Given the description of an element on the screen output the (x, y) to click on. 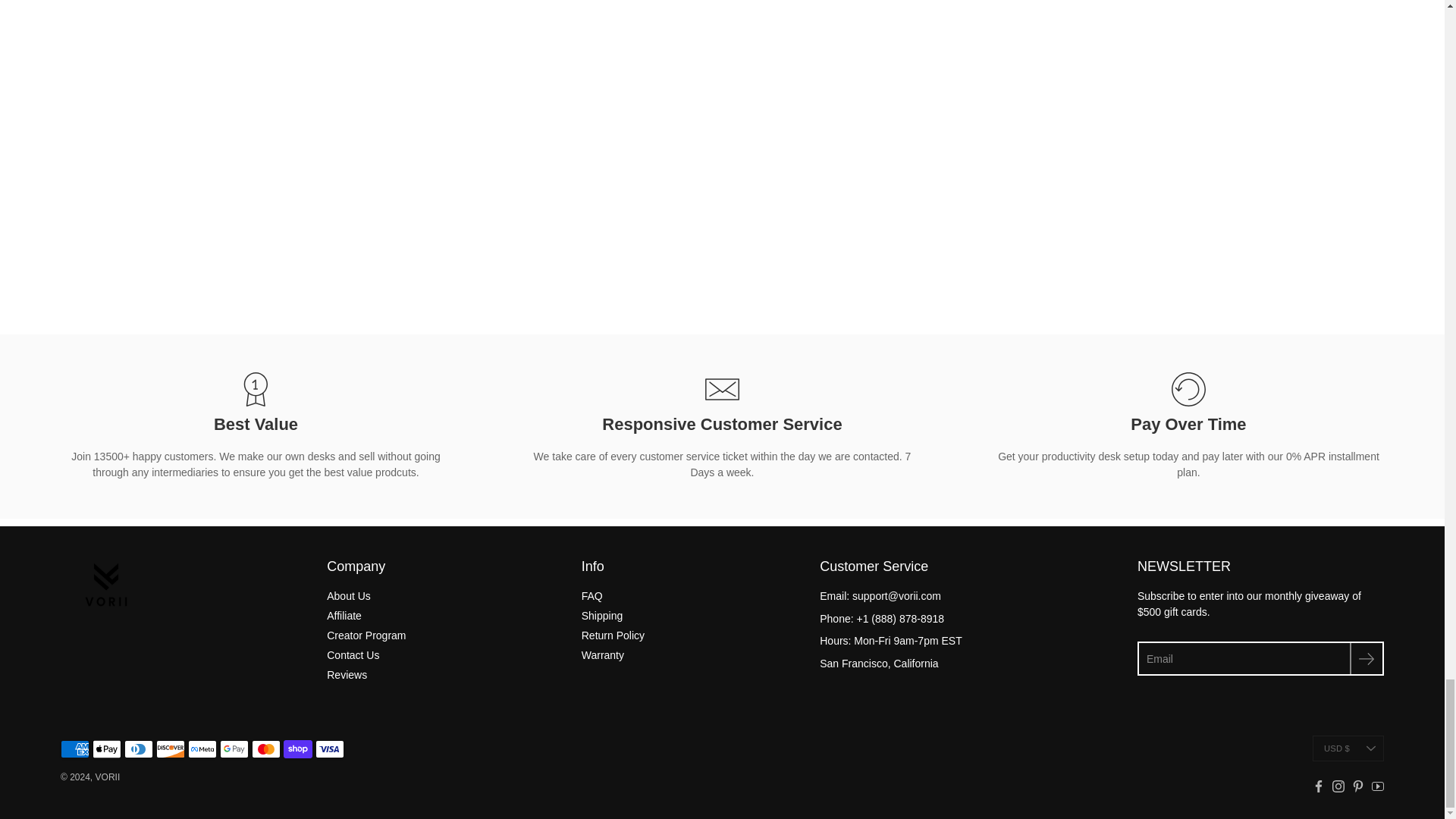
American Express (74, 749)
Diners Club (137, 749)
Apple Pay (106, 749)
